Given the description of an element on the screen output the (x, y) to click on. 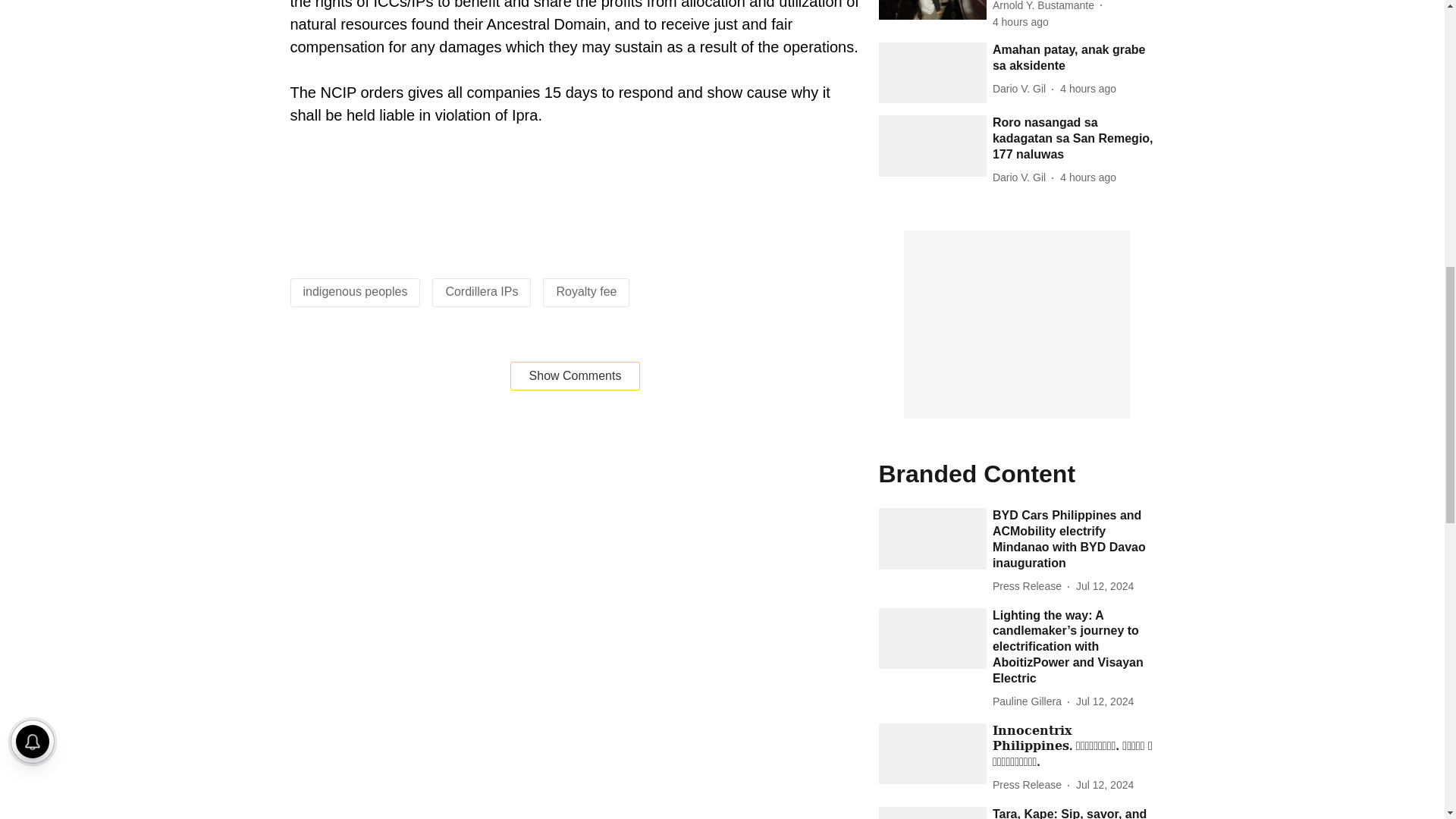
Royalty fee (585, 291)
2024-07-27 14:07 (1020, 22)
2024-07-12 07:00 (1104, 701)
indigenous peoples (354, 291)
2024-07-12 02:00 (1104, 785)
Show Comments (575, 375)
Cordillera IPs (481, 291)
2024-07-27 13:44 (1087, 89)
2024-07-27 13:42 (1087, 177)
2024-07-12 10:22 (1104, 586)
